Given the description of an element on the screen output the (x, y) to click on. 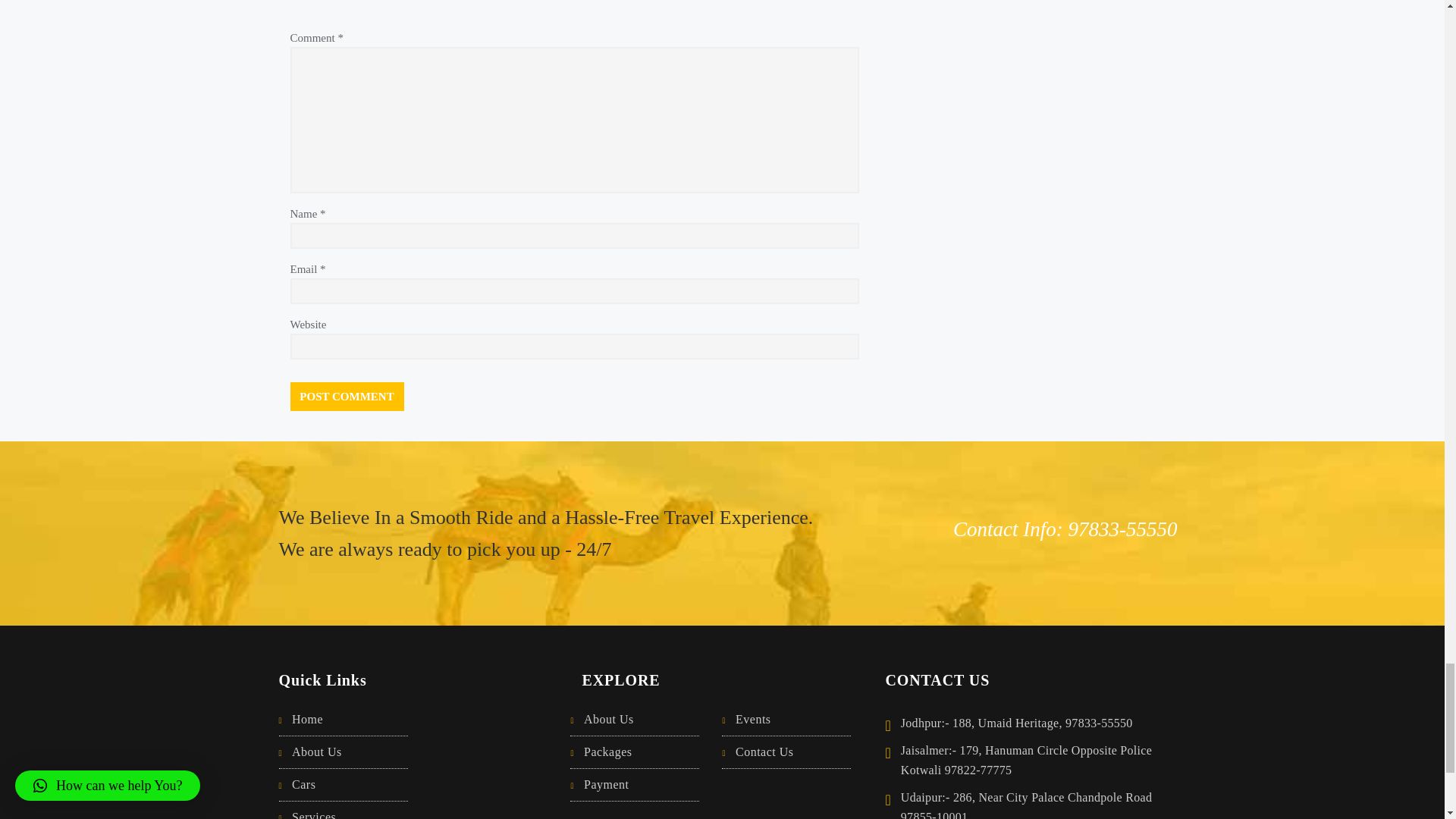
Post Comment (346, 396)
